Given the description of an element on the screen output the (x, y) to click on. 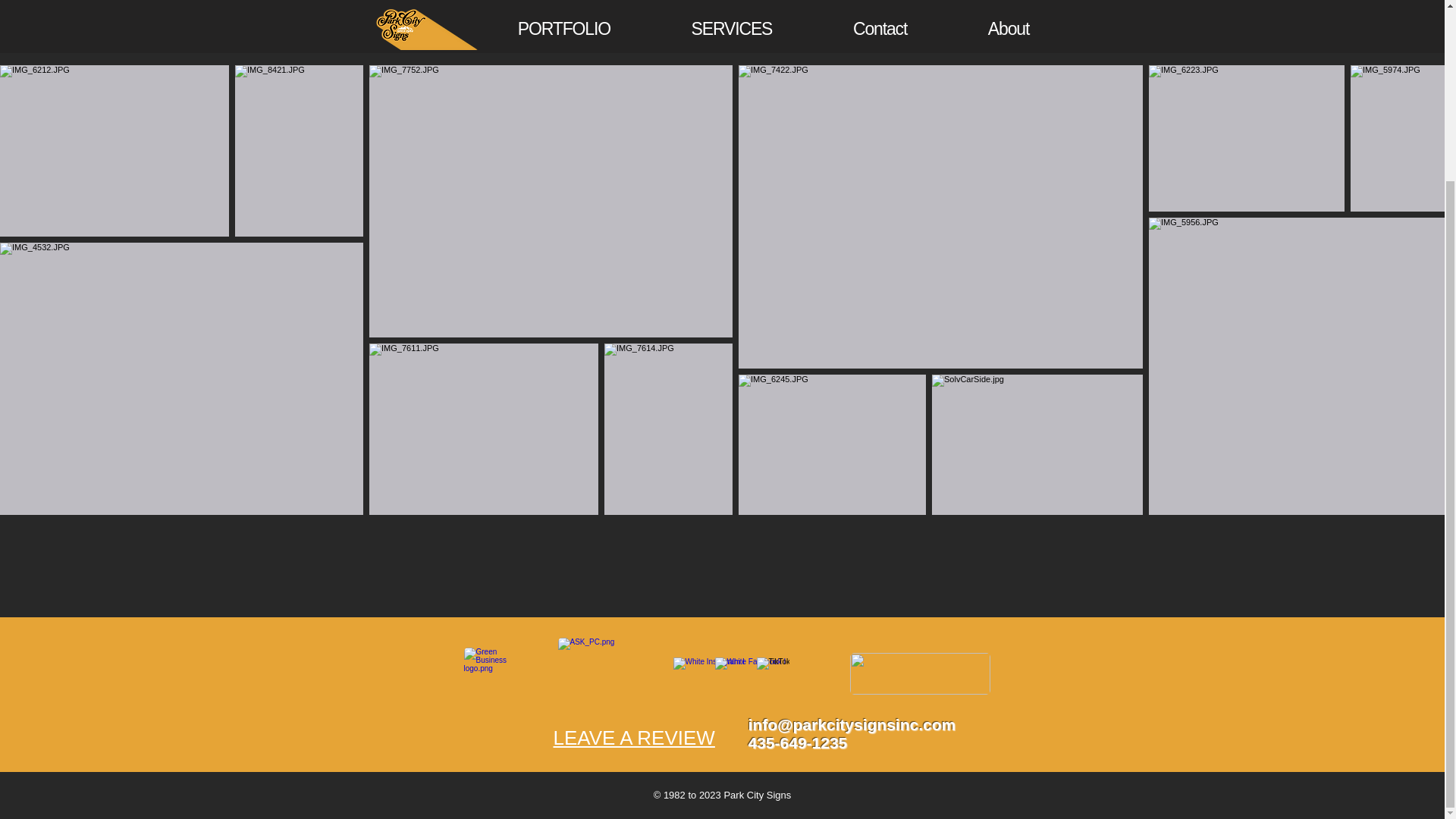
LEAVE A REVIEW (633, 737)
435-649-1235 (797, 742)
